Given the description of an element on the screen output the (x, y) to click on. 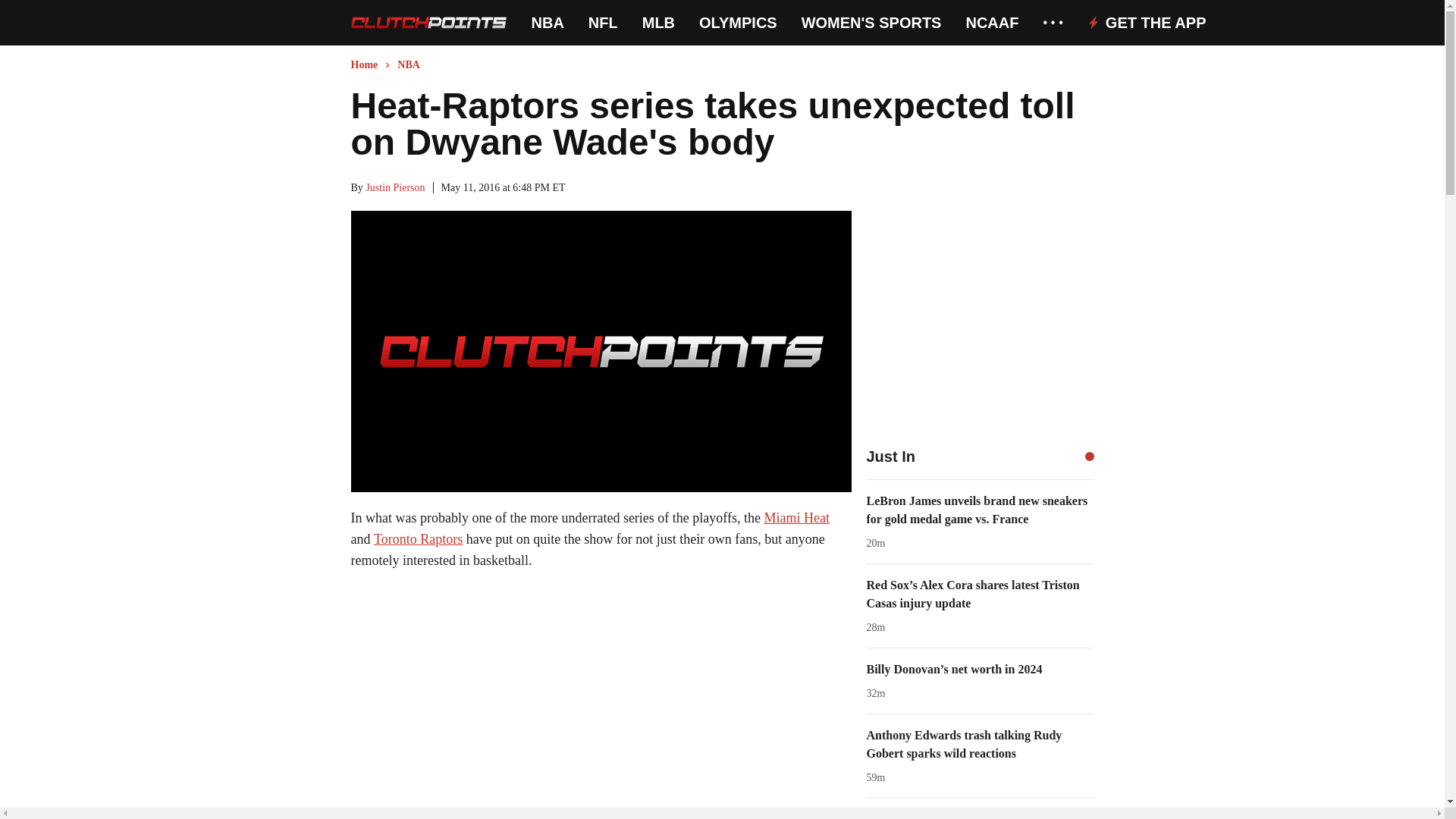
NBA (547, 22)
NBA (547, 22)
NFL (602, 22)
MLB (658, 22)
NFL (602, 22)
